Given the description of an element on the screen output the (x, y) to click on. 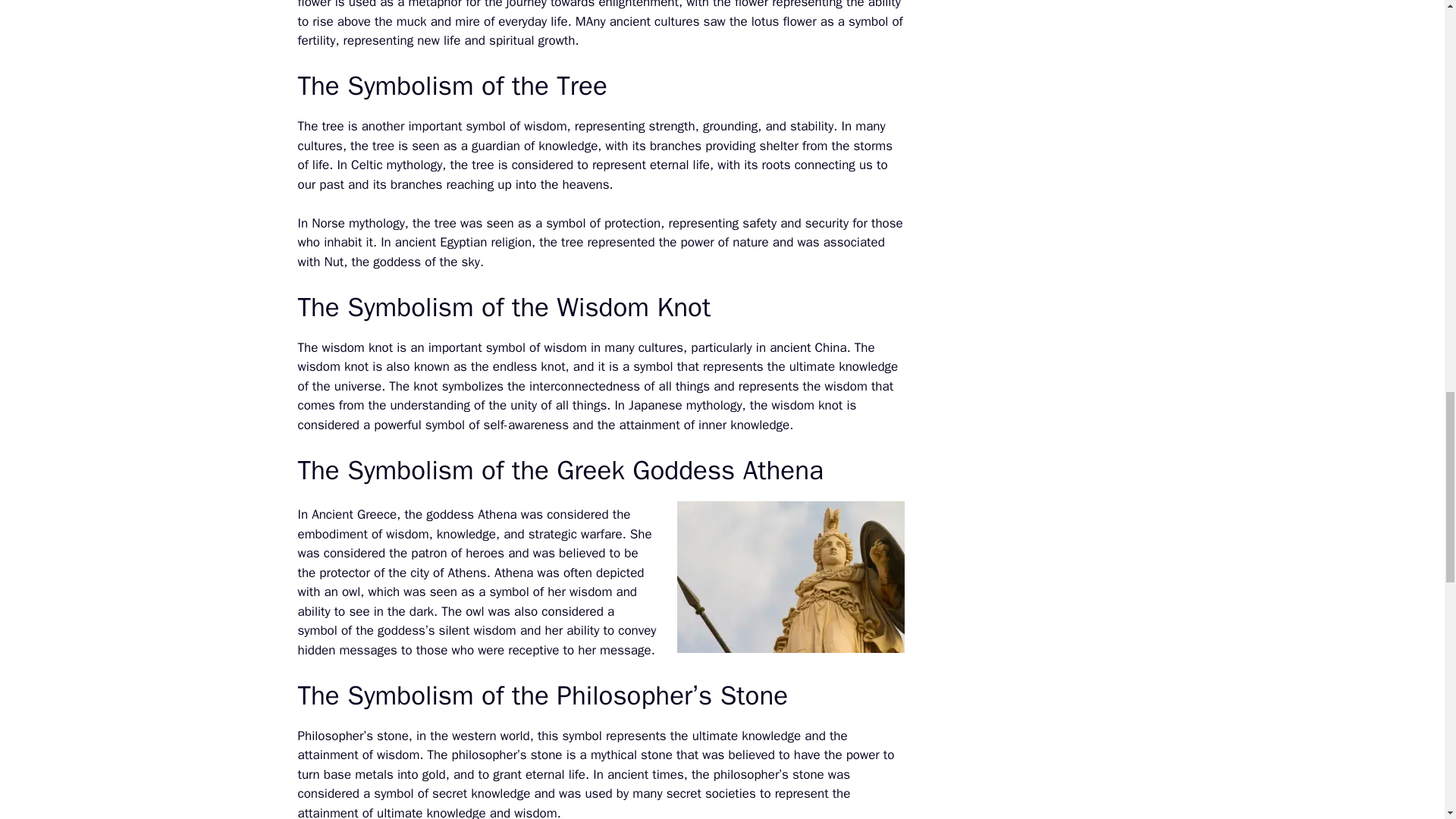
Norse mythology (355, 222)
